Given the description of an element on the screen output the (x, y) to click on. 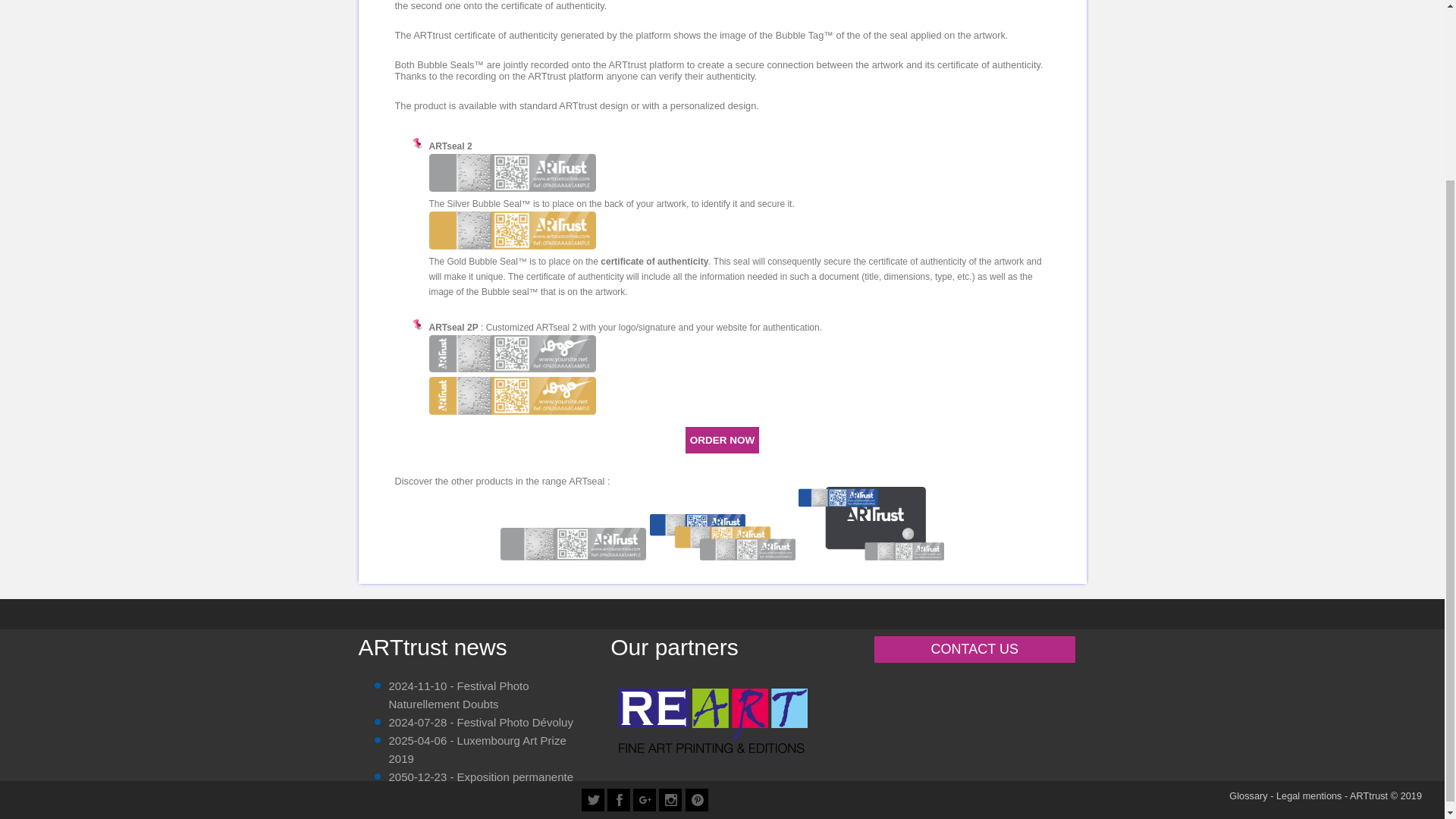
2025-04-06 - Luxembourg Art Prize 2019 (477, 748)
2024-11-10 - Festival Photo Naturellement Doubts (458, 694)
ORDER NOW (722, 439)
2050-12-23 - Exposition permanente (480, 776)
ORDER NOW (722, 439)
